Given the description of an element on the screen output the (x, y) to click on. 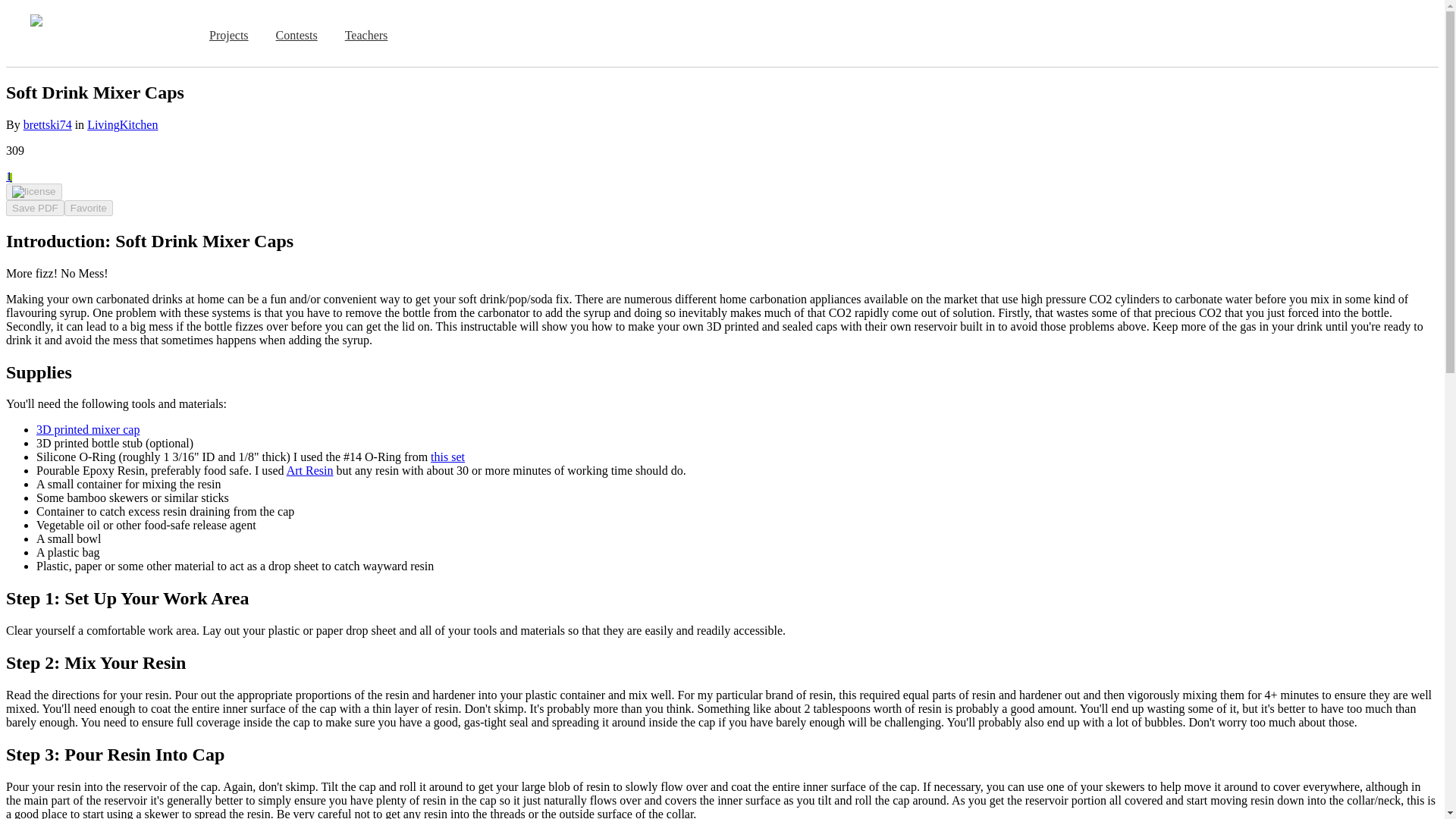
this set (447, 456)
Teachers (366, 36)
Favorite (88, 207)
Living (103, 124)
Contests (295, 36)
Projects (229, 36)
Kitchen (138, 124)
brettski74 (47, 124)
Save PDF (34, 207)
3D printed mixer cap (87, 429)
